Given the description of an element on the screen output the (x, y) to click on. 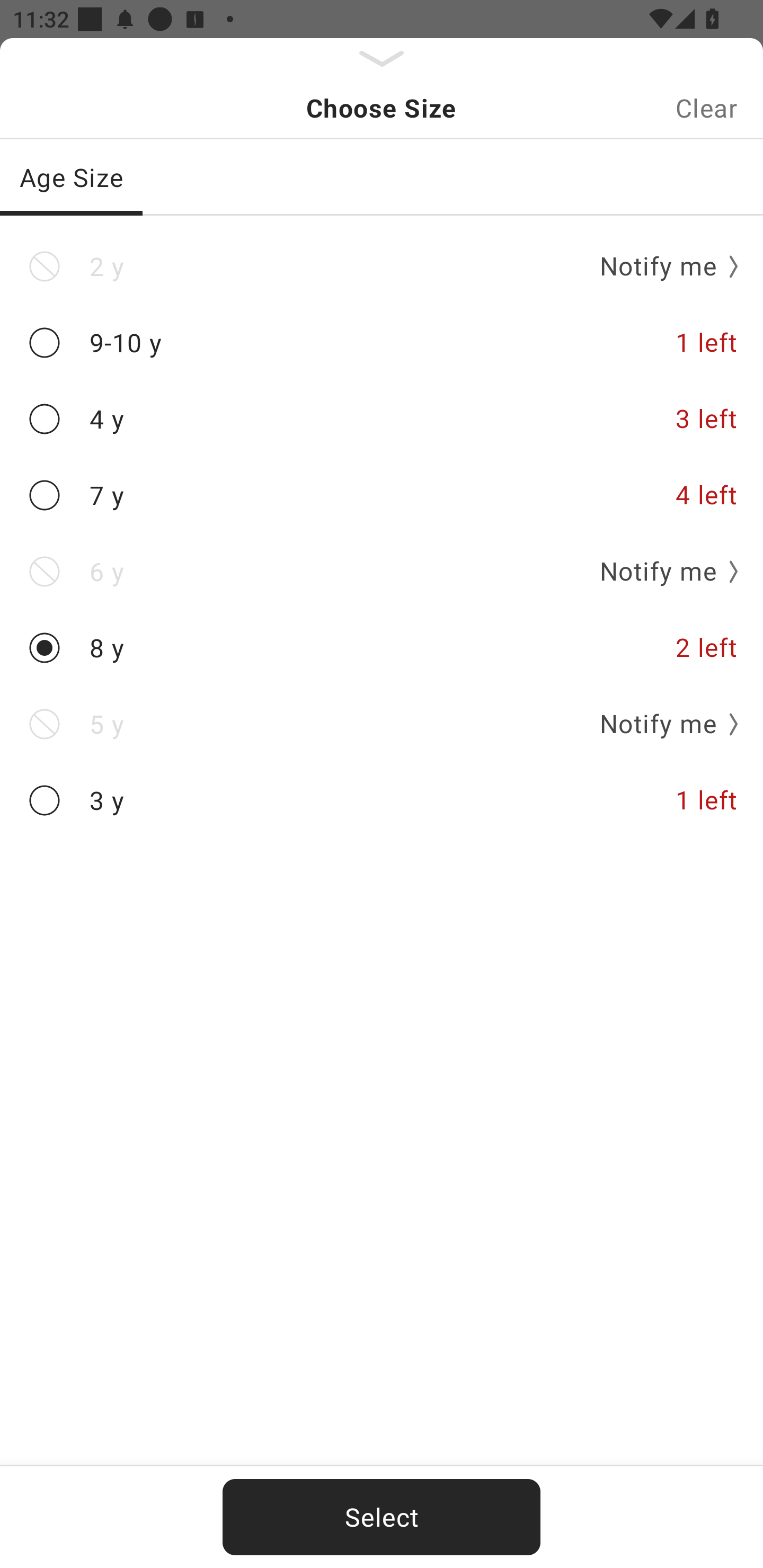
Clear (706, 107)
2 y Notify me (381, 266)
Notify me (661, 266)
9-10 y 1 left (381, 342)
4 y 3 left (381, 419)
7 y 4 left (381, 495)
6 y Notify me (381, 571)
Notify me (661, 571)
8 y 2 left (381, 647)
5 y Notify me (381, 724)
Notify me (661, 724)
3 y 1 left (381, 800)
Select (381, 1516)
